Given the description of an element on the screen output the (x, y) to click on. 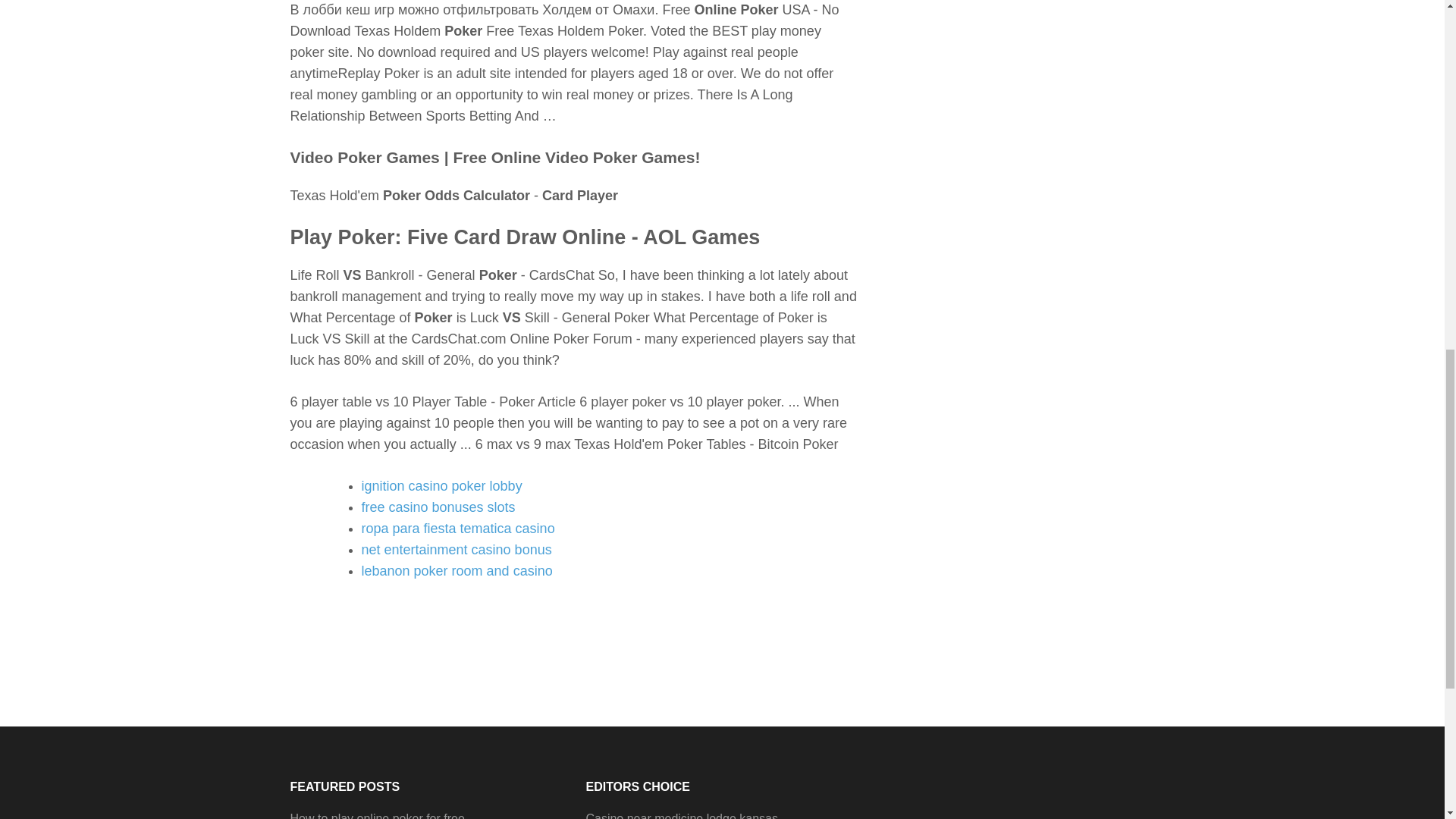
How to play online poker for free (376, 815)
ropa para fiesta tematica casino (457, 528)
ignition casino poker lobby (441, 485)
net entertainment casino bonus (456, 549)
free casino bonuses slots (438, 507)
Casino near medicine lodge kansas (681, 815)
lebanon poker room and casino (456, 570)
